Given the description of an element on the screen output the (x, y) to click on. 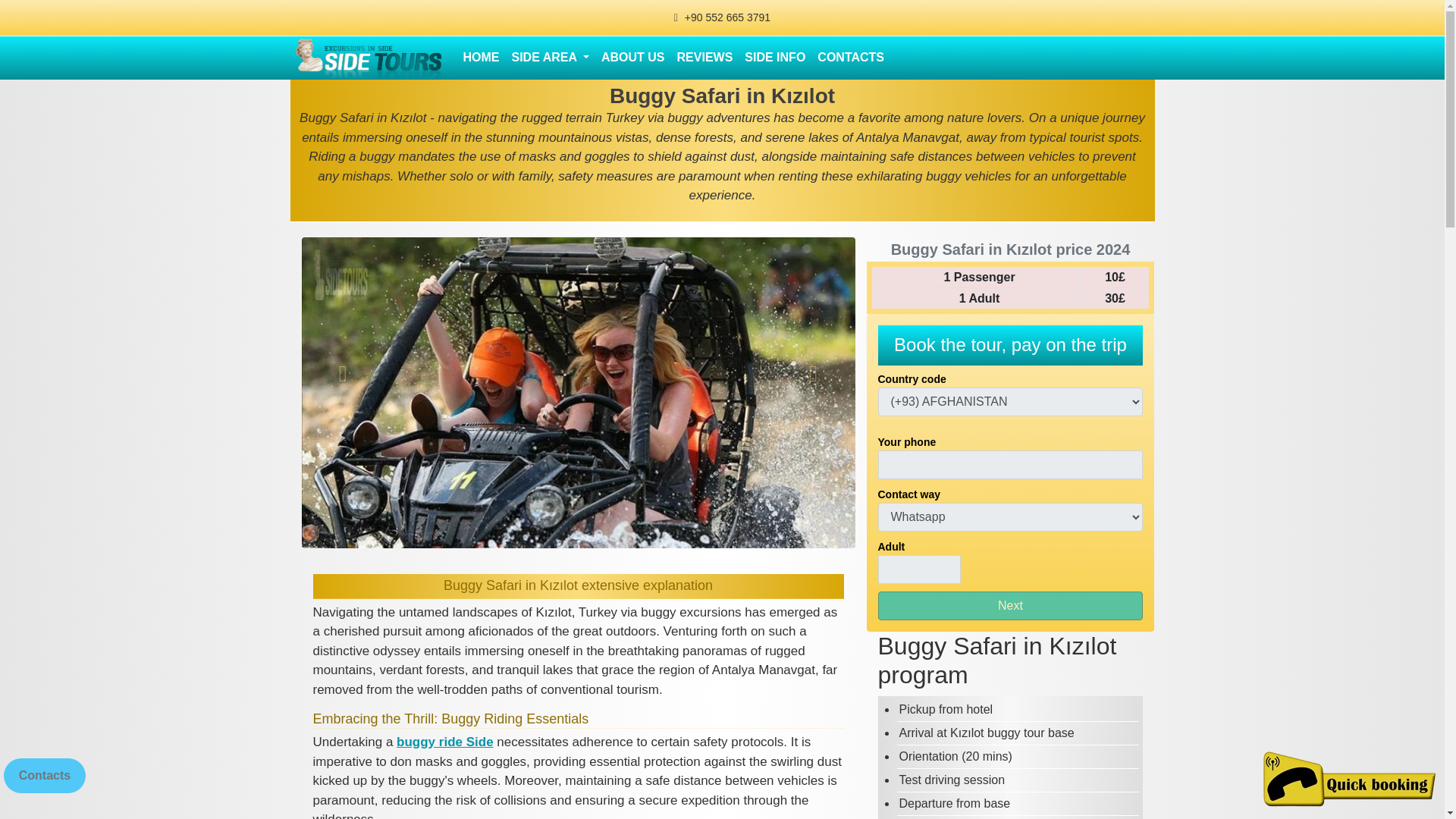
SIDE INFO (774, 57)
Next (1009, 605)
ABOUT US (633, 57)
Side Tours logo (365, 57)
SIDE AREA (549, 57)
HOME (481, 57)
CONTACTS (849, 57)
buggy ride Side (444, 741)
REVIEWS (705, 57)
